Given the description of an element on the screen output the (x, y) to click on. 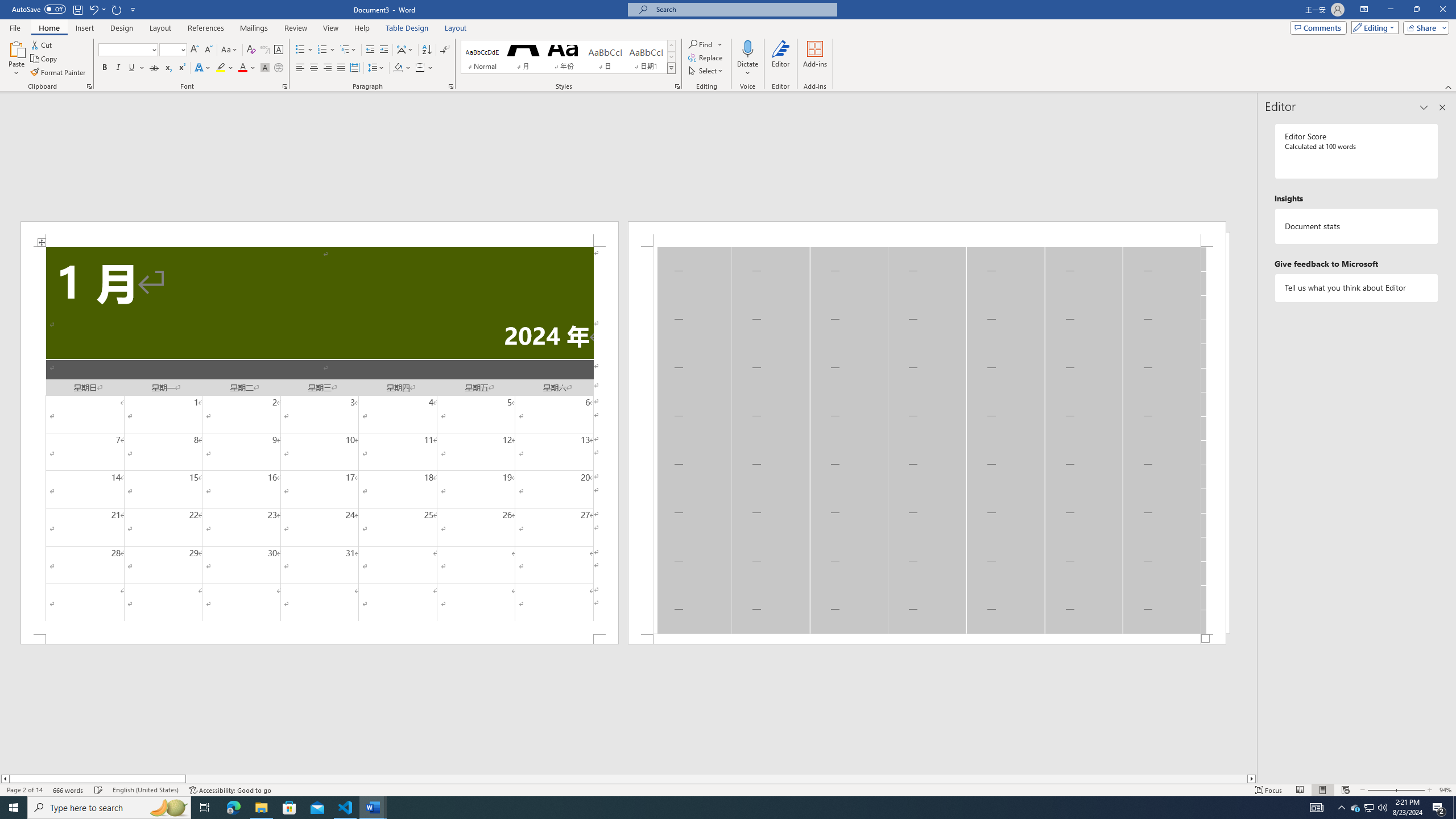
Sort... (426, 49)
Decrease Indent (370, 49)
Styles (670, 67)
Column right (1251, 778)
Spelling and Grammar Check Checking (98, 790)
Office Clipboard... (88, 85)
Superscript (180, 67)
Document statistics (1356, 226)
